Given the description of an element on the screen output the (x, y) to click on. 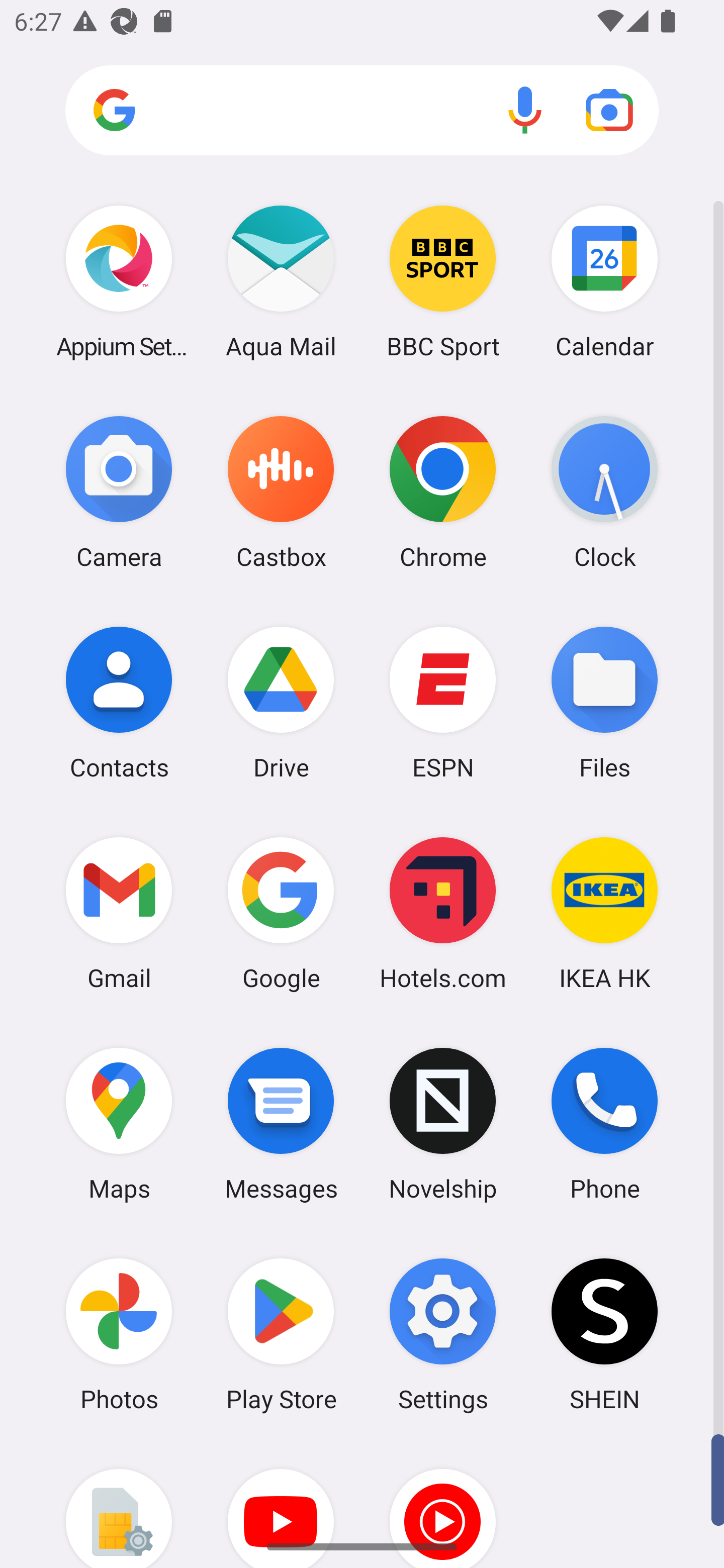
Search apps, web and more (361, 110)
Voice search (524, 109)
Google Lens (608, 109)
Appium Settings (118, 281)
Aqua Mail (280, 281)
BBC Sport (443, 281)
Calendar (604, 281)
Camera (118, 492)
Castbox (280, 492)
Chrome (443, 492)
Clock (604, 492)
Contacts (118, 702)
Drive (280, 702)
ESPN (443, 702)
Files (604, 702)
Gmail (118, 913)
Google (280, 913)
Hotels.com (443, 913)
IKEA HK (604, 913)
Maps (118, 1124)
Messages (280, 1124)
Novelship (443, 1124)
Phone (604, 1124)
Photos (118, 1334)
Play Store (280, 1334)
Settings (443, 1334)
SHEIN (604, 1334)
TMoble (118, 1503)
YouTube (280, 1503)
YT Music (443, 1503)
